Given the description of an element on the screen output the (x, y) to click on. 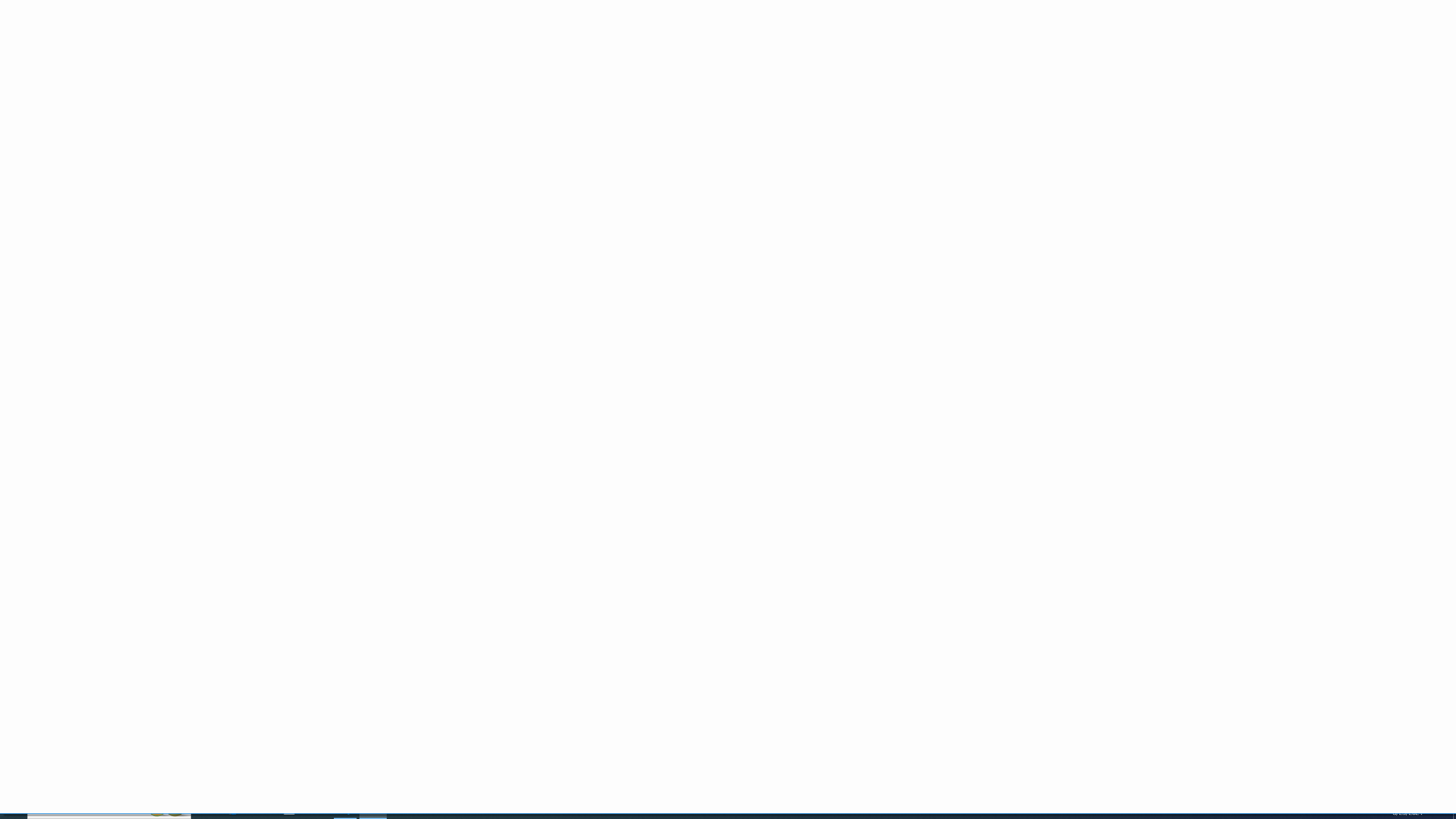
Underline (136, 67)
Bottom Align (290, 49)
Orientation (311, 49)
Bottom Border (157, 67)
Show Phonetic Field (236, 67)
Copy (45, 58)
Fill Color RGB(255, 255, 0) (183, 67)
Sum (1006, 44)
Format as Table (563, 58)
